Given the description of an element on the screen output the (x, y) to click on. 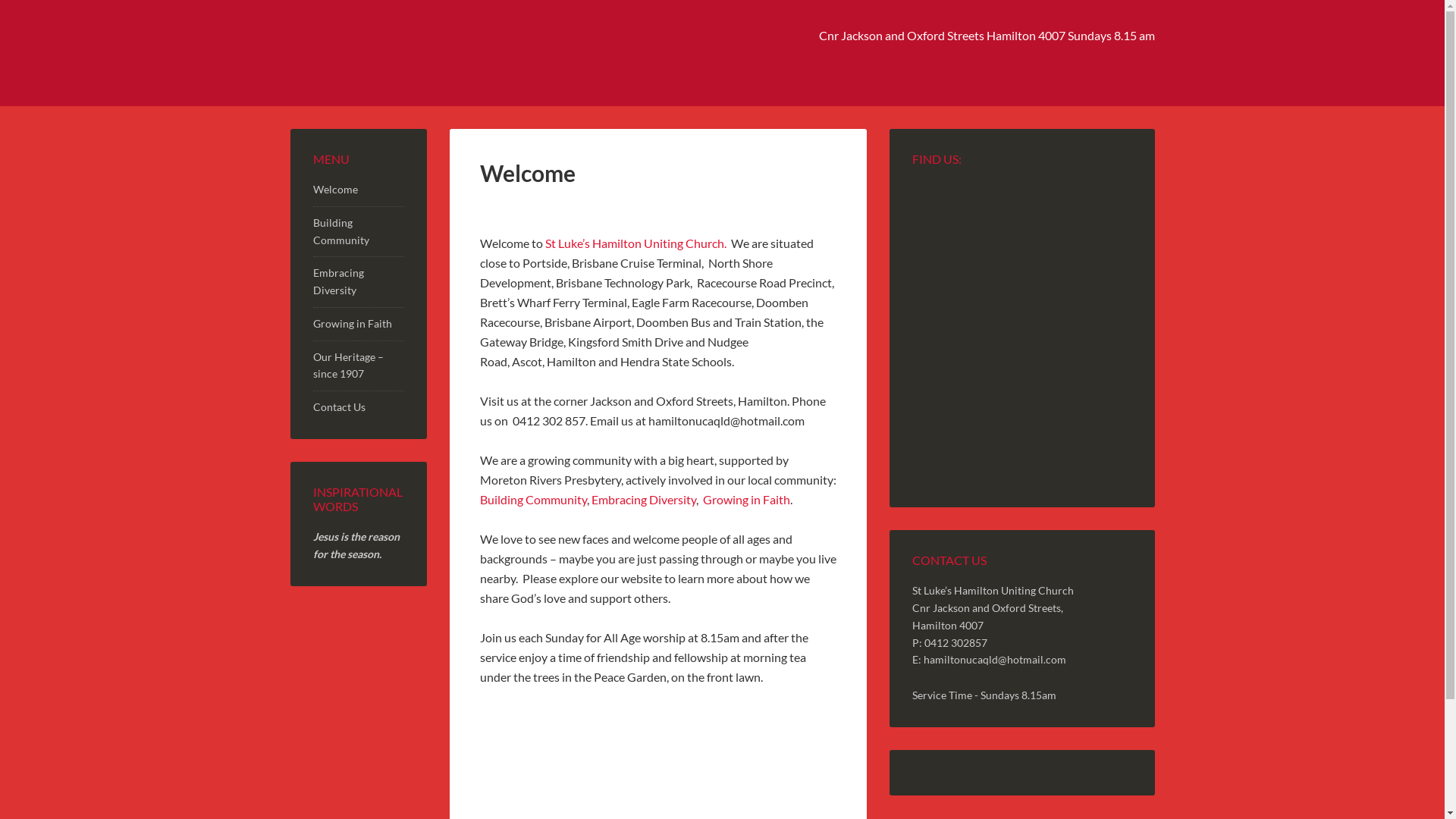
Welcome Element type: text (334, 188)
Growing in Faith Element type: text (351, 322)
Growing in Faith Element type: text (745, 499)
Contact Us Element type: text (338, 406)
Building Community Element type: text (340, 231)
ST. LUKE'S HAMILTON UNITING CHURCH QLD Element type: text (418, 53)
Building Community Element type: text (532, 499)
Embracing Diversity Element type: text (643, 499)
Embracing Diversity Element type: text (337, 281)
